Given the description of an element on the screen output the (x, y) to click on. 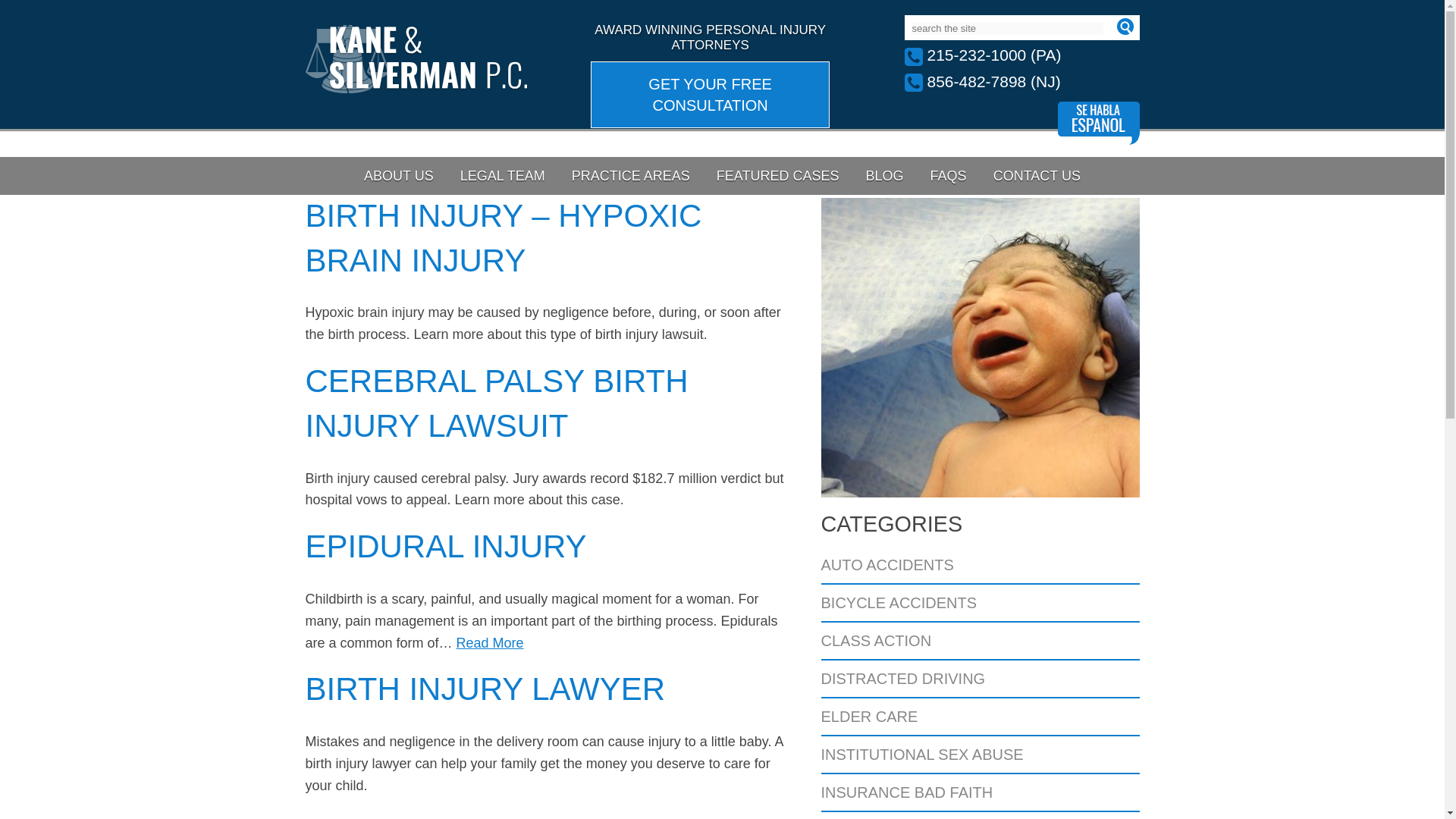
LEGAL TEAM (502, 175)
Search (1124, 26)
ABOUT US (398, 175)
Search (1124, 26)
Search (1124, 26)
PRACTICE AREAS (630, 175)
GET YOUR FREE CONSULTATION (710, 94)
search the site: (1006, 28)
